Given the description of an element on the screen output the (x, y) to click on. 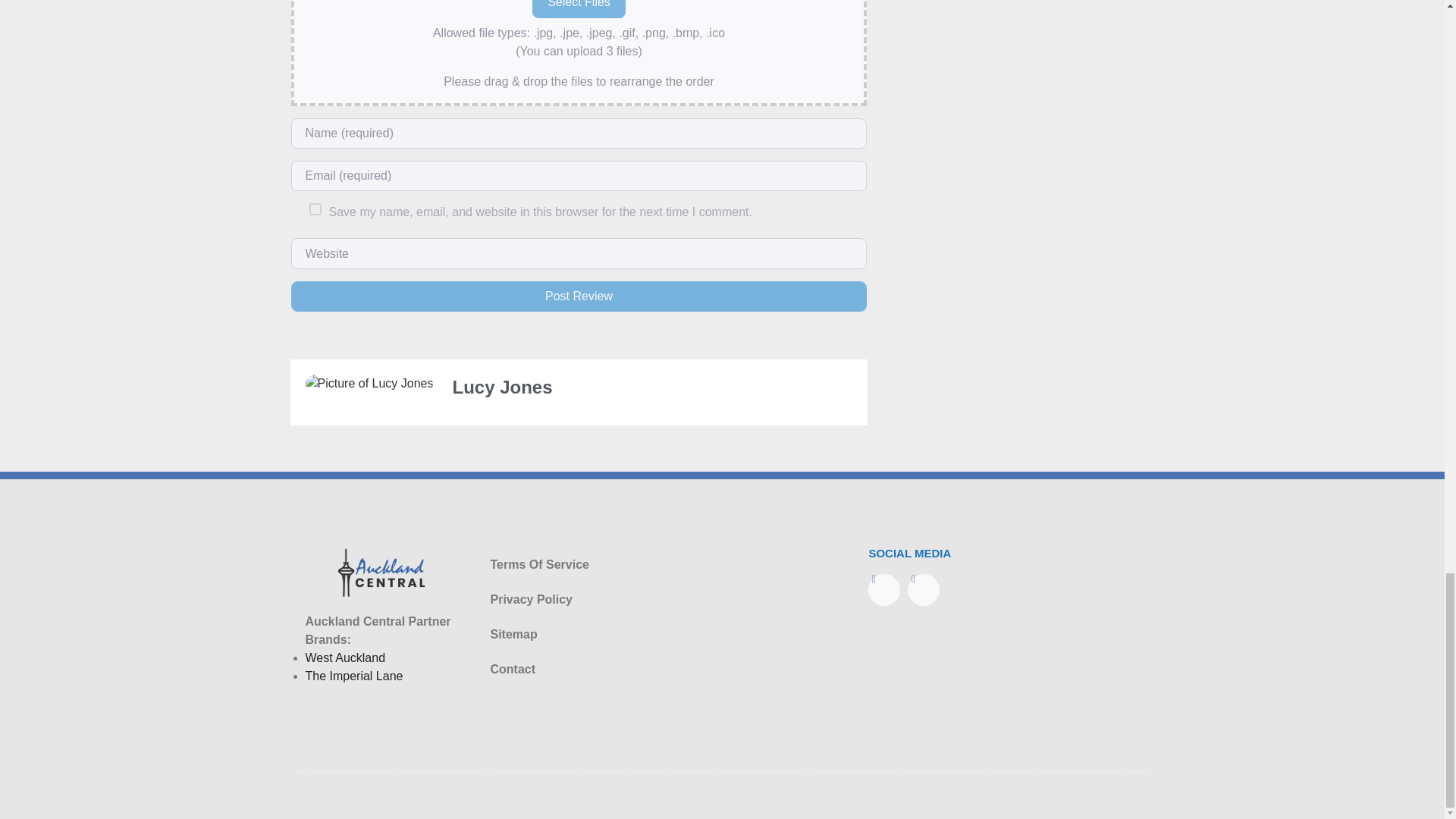
Post Review (579, 296)
Select Files (579, 8)
yes (314, 209)
